Given the description of an element on the screen output the (x, y) to click on. 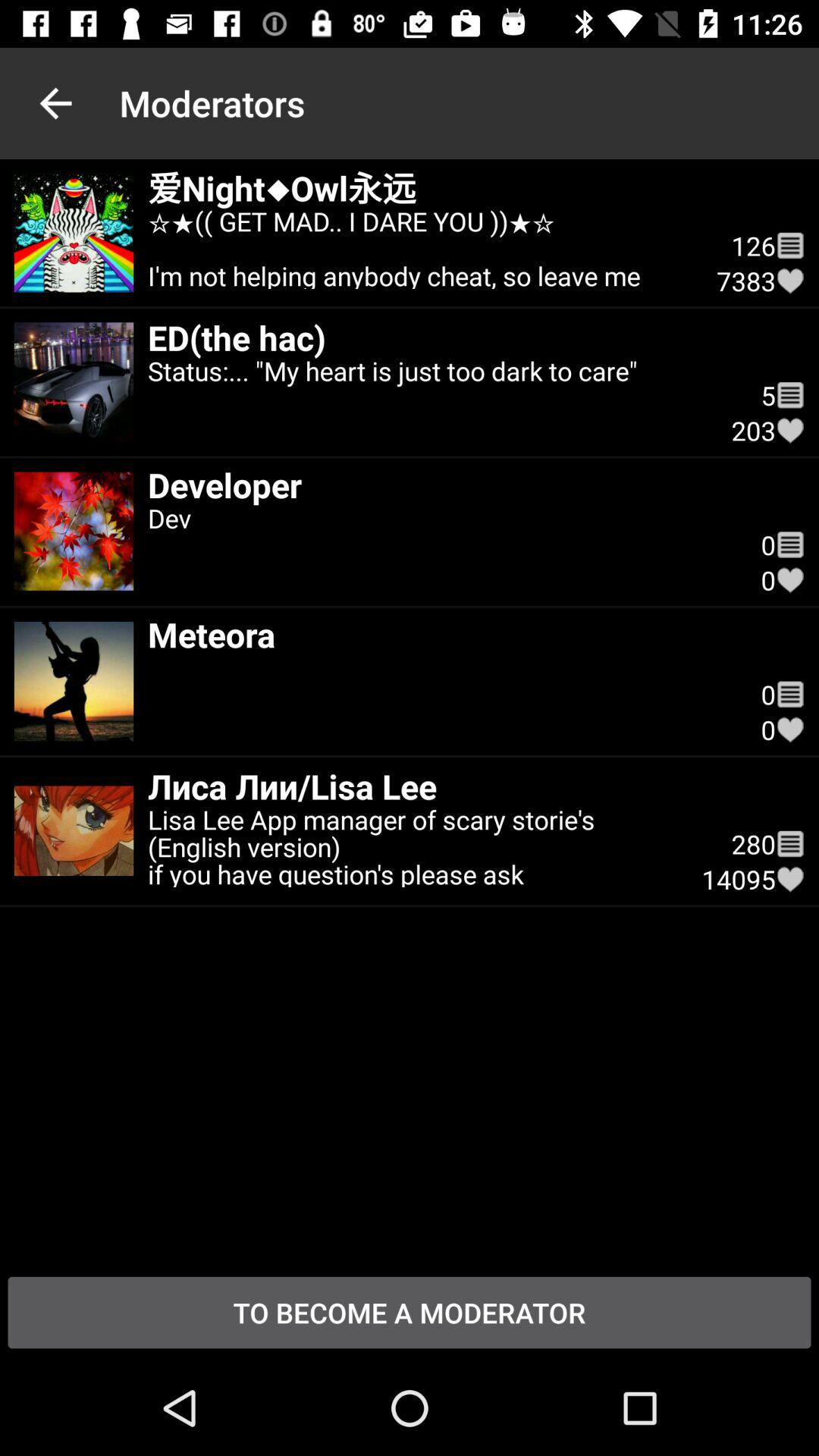
launch item below the 203 icon (439, 484)
